Given the description of an element on the screen output the (x, y) to click on. 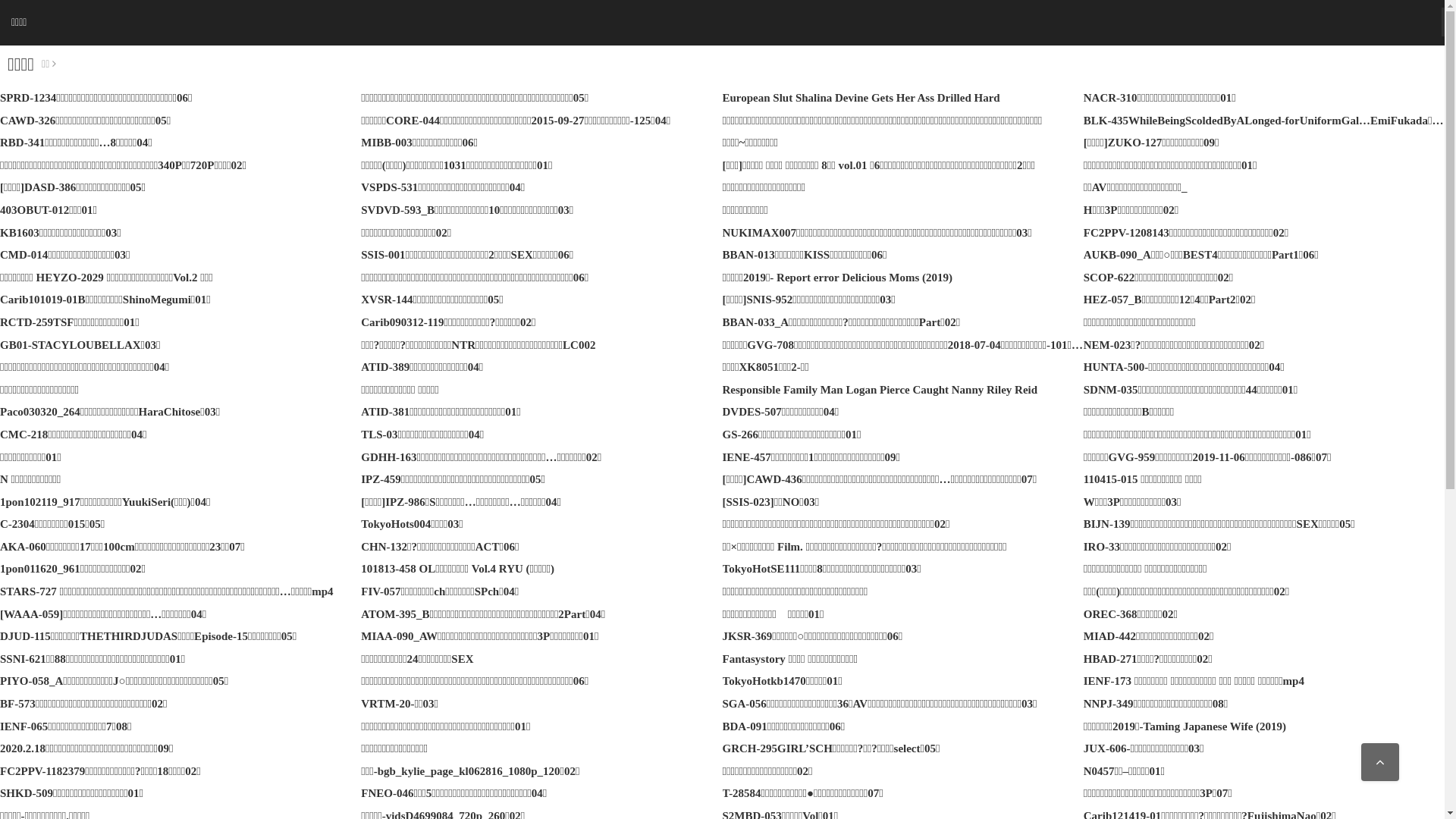
European Slut Shalina Devine Gets Her Ass Drilled Hard Element type: text (860, 97)
Responsible Family Man Logan Pierce Caught Nanny Riley Reid Element type: text (879, 389)
